Given the description of an element on the screen output the (x, y) to click on. 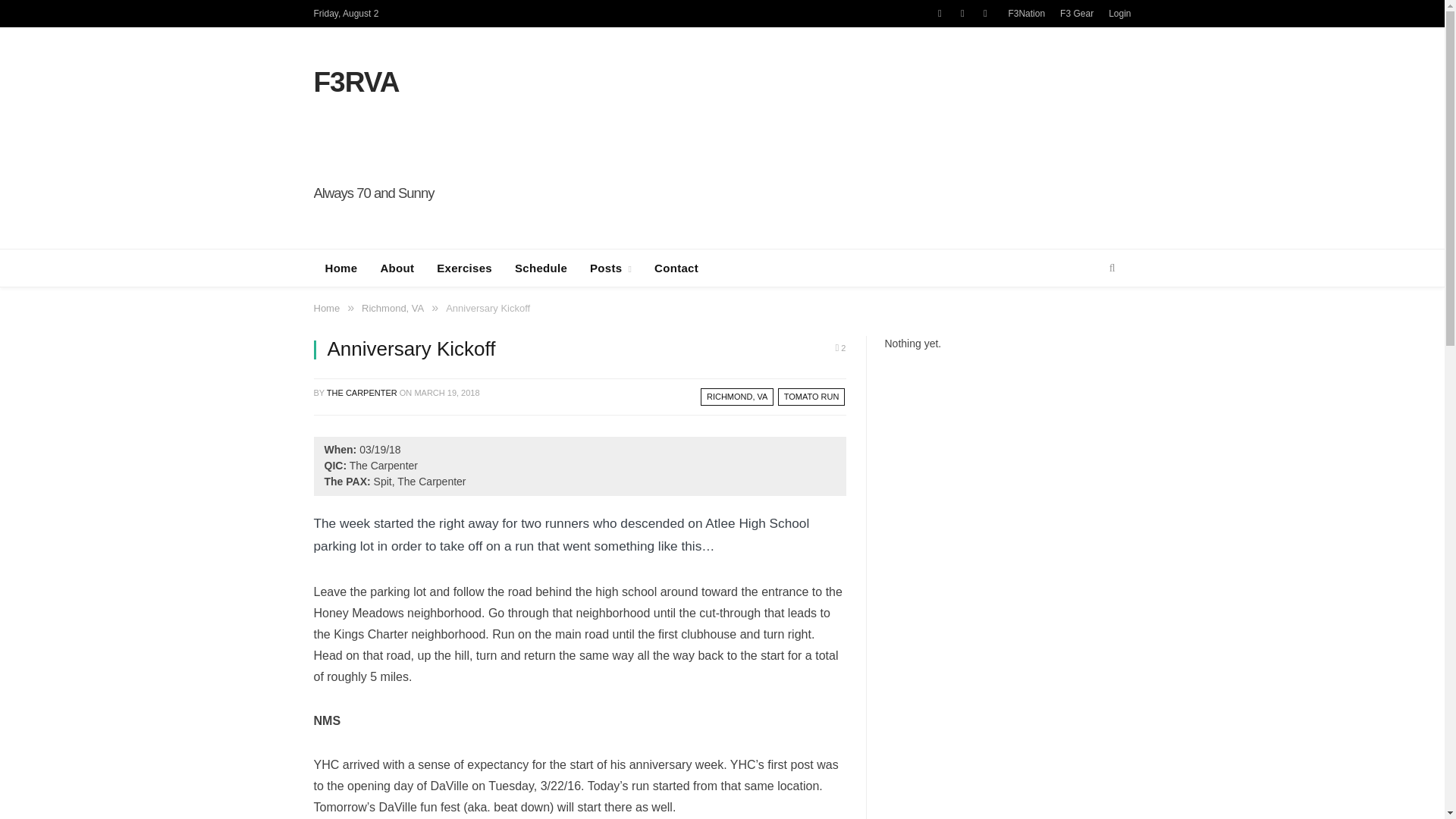
F3RVA (356, 81)
F3Nation (1026, 13)
RICHMOND, VA (736, 396)
Exercises (464, 267)
THE CARPENTER (361, 392)
Search (1112, 268)
2018-03-19 (446, 392)
Facebook (962, 13)
Login (1119, 13)
Contact (676, 267)
